Given the description of an element on the screen output the (x, y) to click on. 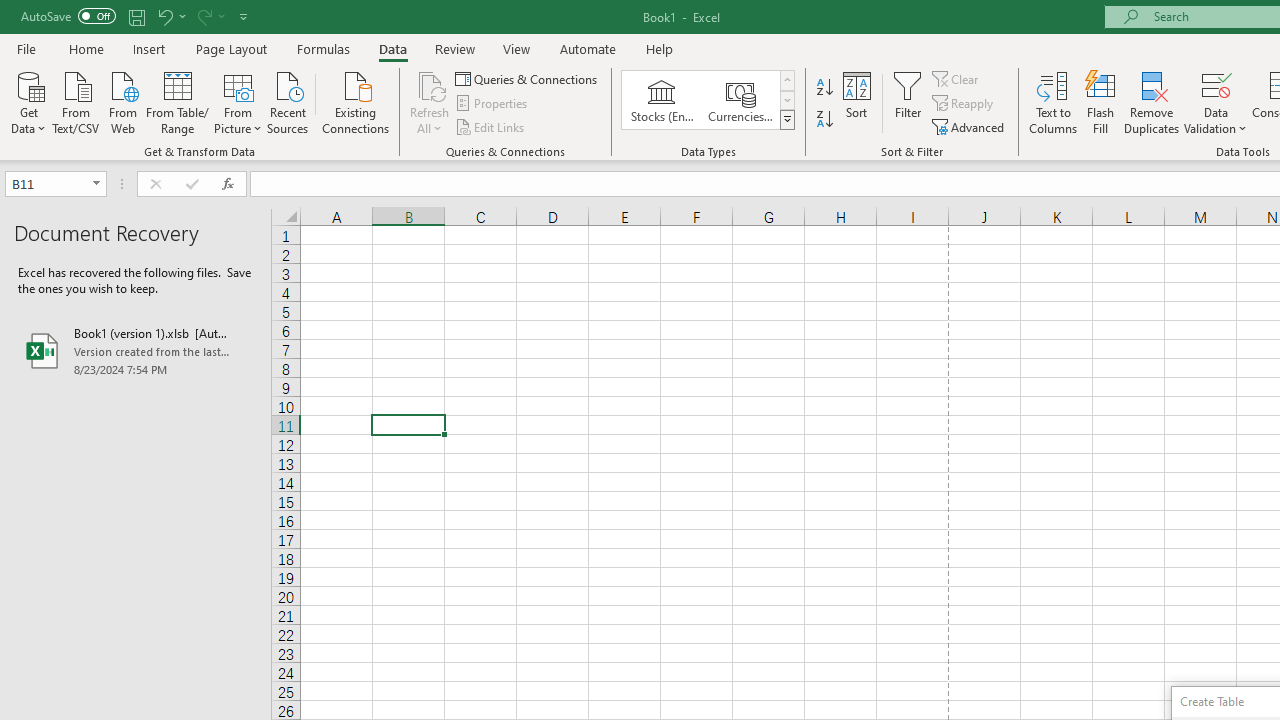
Edit Links (491, 126)
Class: NetUIImage (787, 119)
Properties (492, 103)
